Given the description of an element on the screen output the (x, y) to click on. 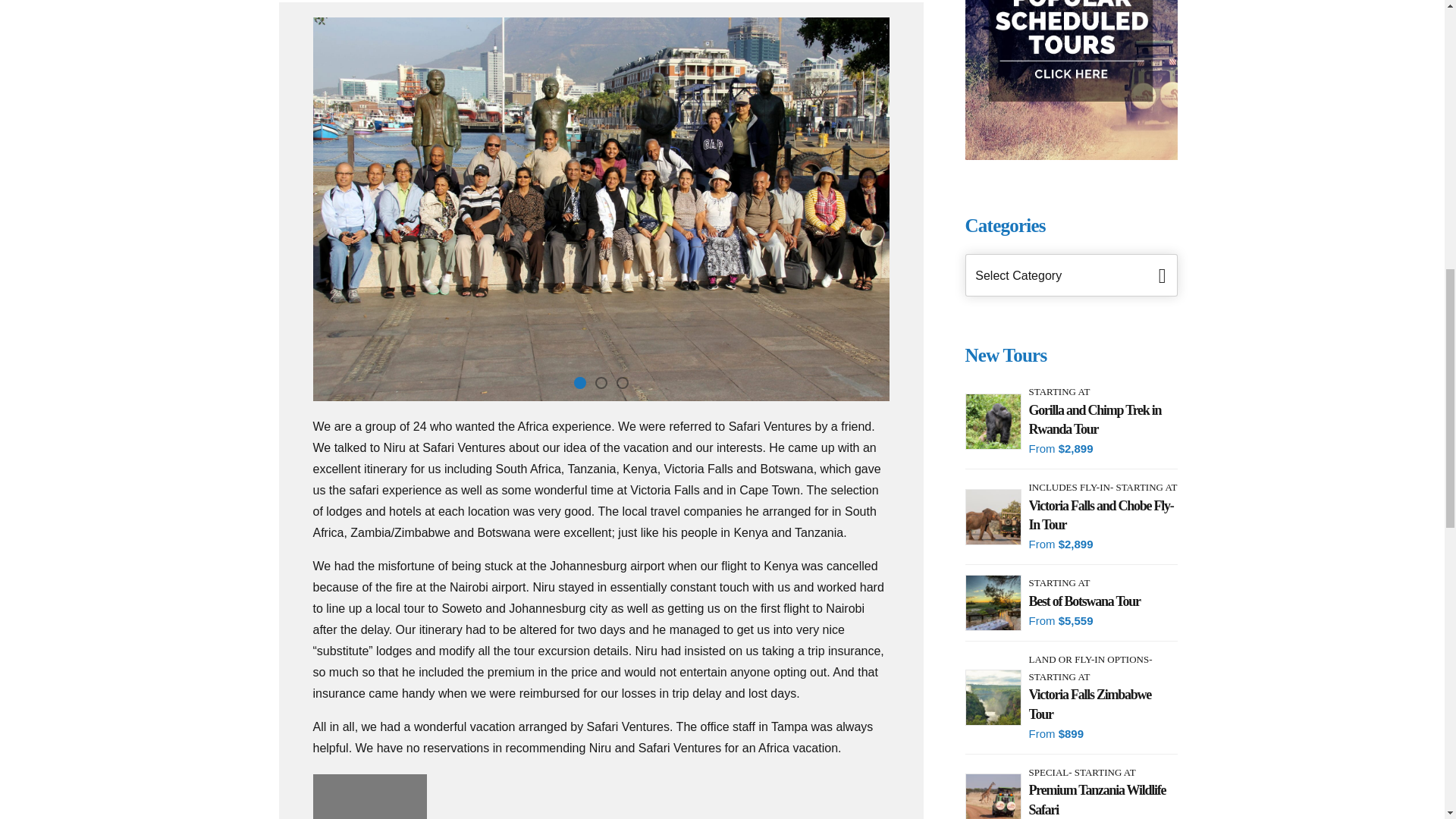
Victoria Falls and Chobe Fly-In Tour (1101, 515)
Placeholder image (369, 796)
Gorilla and Chimp Trek in Rwanda Tour (1101, 419)
